Given the description of an element on the screen output the (x, y) to click on. 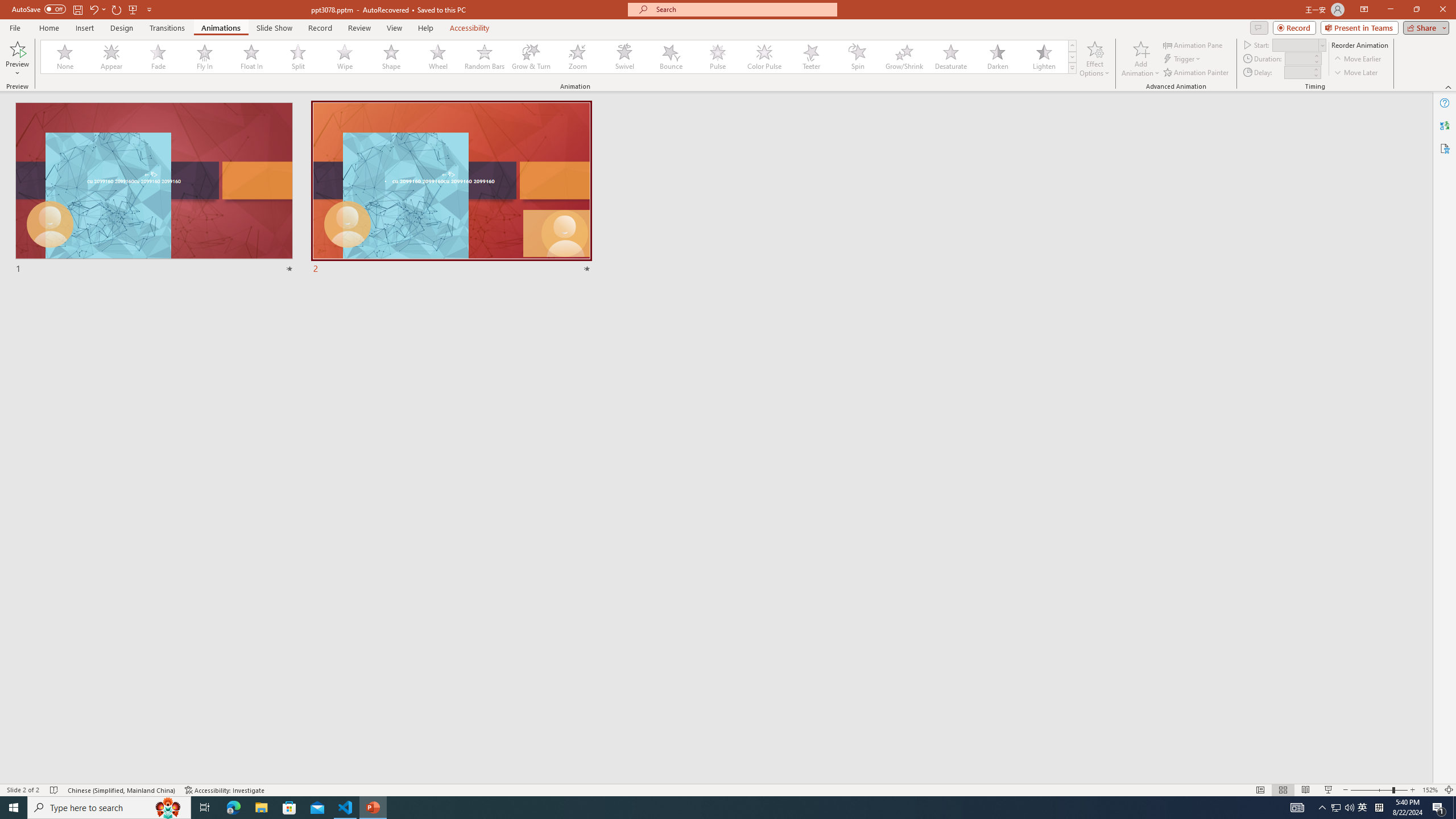
Move Earlier (1357, 58)
More (1315, 69)
Move Later (1355, 72)
None (65, 56)
Add Animation (1141, 58)
